Given the description of an element on the screen output the (x, y) to click on. 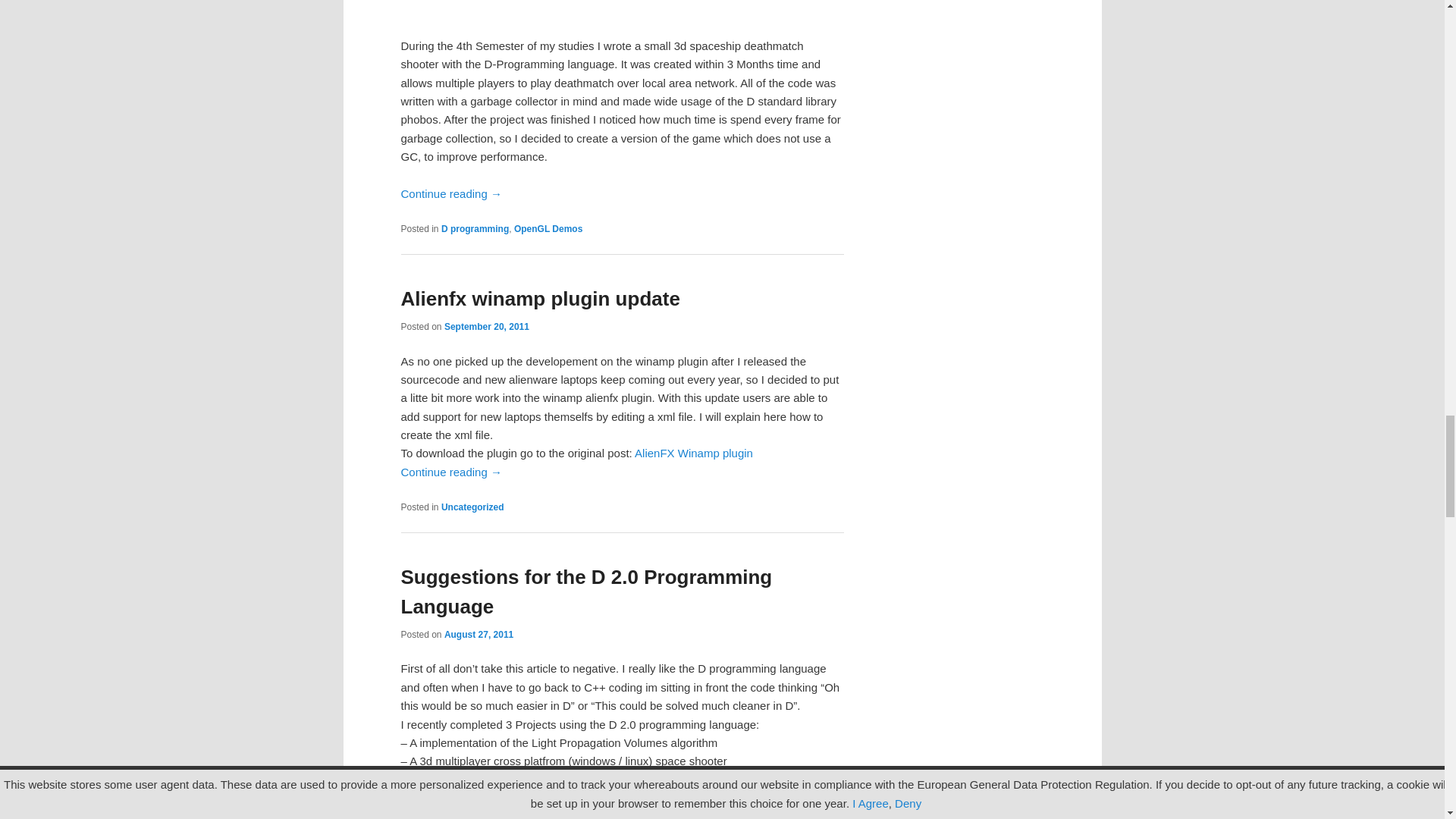
D programming (474, 228)
Alienfx winamp plugin update (539, 298)
OpenGL Demos (547, 228)
AlienFX Winamp plugin (693, 452)
September 20, 2011 (486, 326)
